Given the description of an element on the screen output the (x, y) to click on. 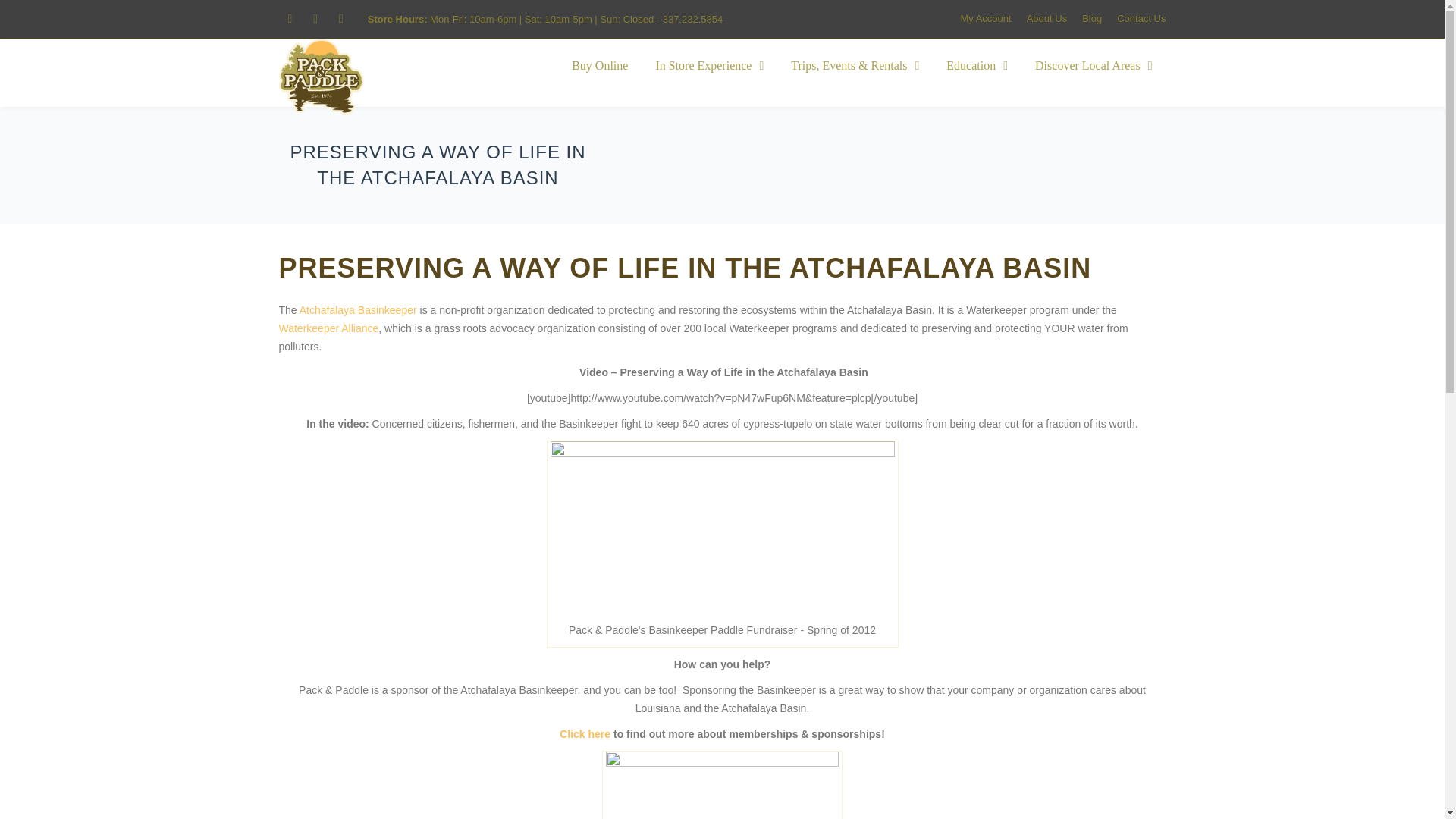
In Store Experience (709, 66)
Blog (1091, 18)
Education (977, 66)
basinkeeper-paddle-2 (722, 527)
Pack and Paddle (321, 76)
Atchafalaya Basinkeeper (357, 309)
PRESERVING A WAY OF LIFE IN THE ATCHAFALAYA BASIN (685, 267)
basinkeeper-cons-night (721, 785)
Waterkeeper Alliance (328, 328)
Atchafalaya Basinkeeper (357, 309)
Contact Us (1141, 18)
Basinkeeper Memberships (584, 734)
About Us (1046, 18)
Buy Online (599, 66)
Waterkeeper Alliance (328, 328)
